Given the description of an element on the screen output the (x, y) to click on. 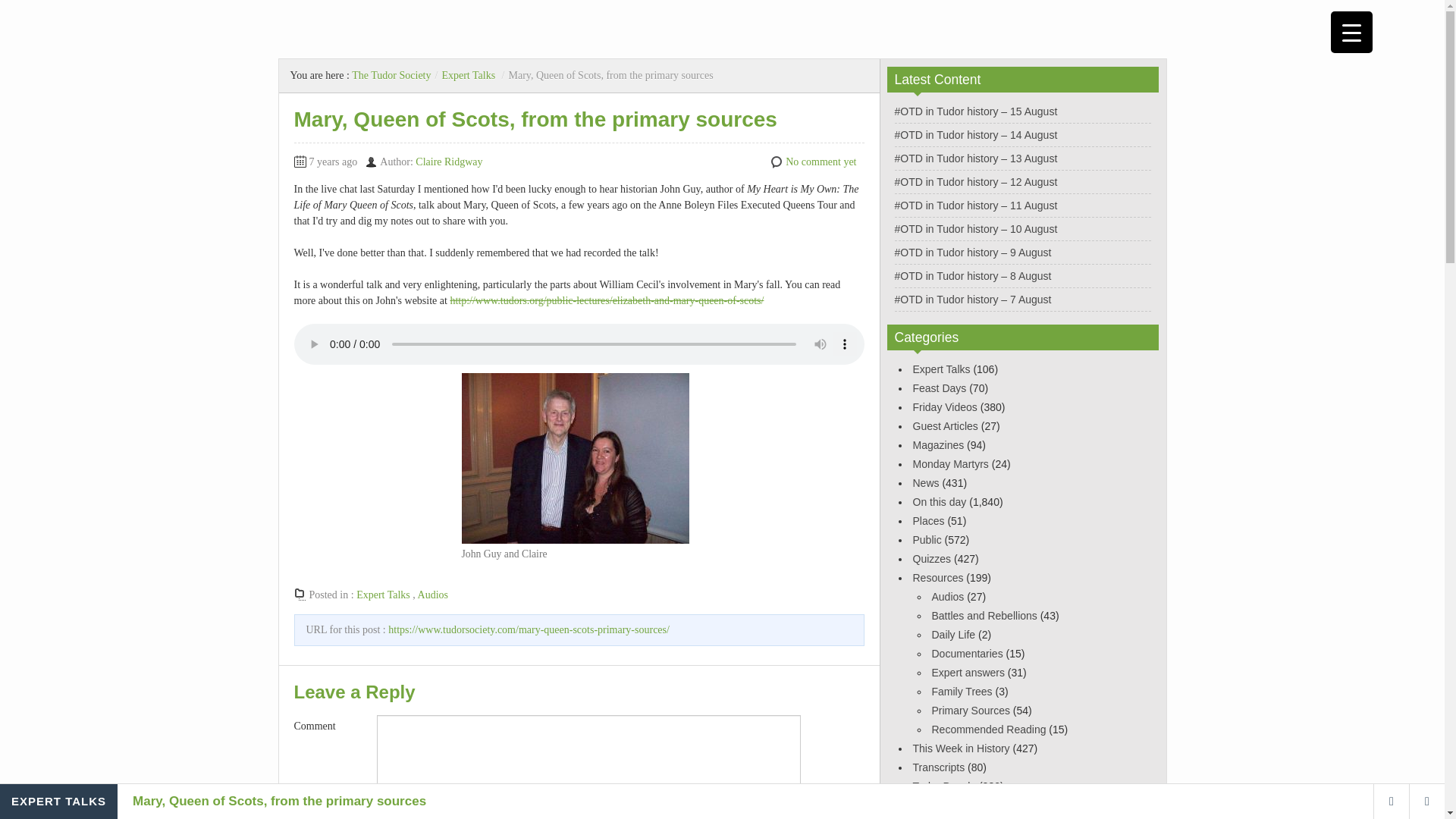
Claire Ridgway (447, 161)
Expert Talks (383, 594)
Guest Articles (945, 426)
Expert Talks (941, 369)
Expert Talks (468, 75)
Magazines (937, 444)
The Tudor Society (391, 75)
Friday Videos (944, 407)
Audios (432, 594)
Monday Martyrs (950, 463)
